Given the description of an element on the screen output the (x, y) to click on. 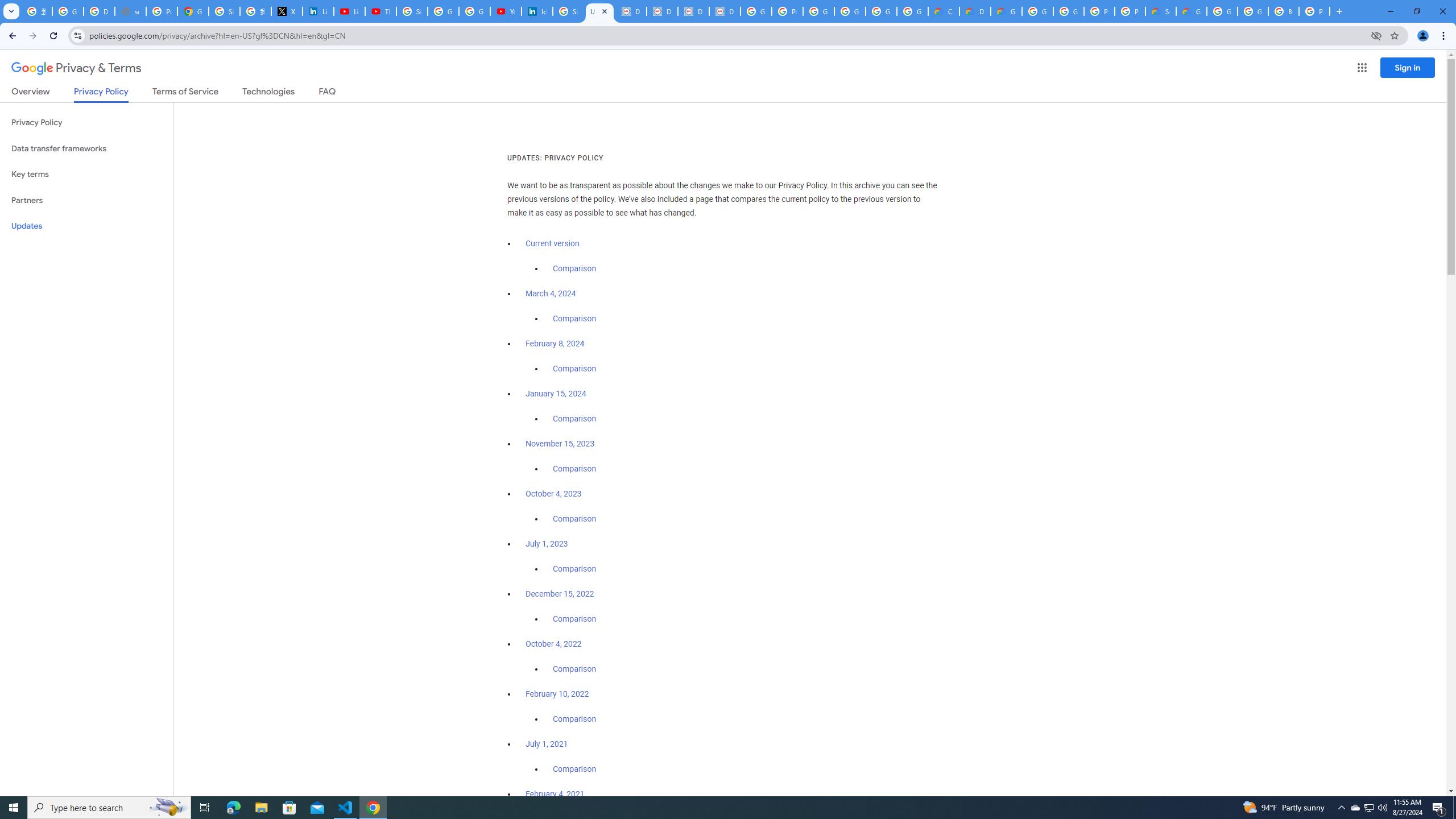
Google Cloud Service Health (1190, 11)
November 15, 2023 (560, 443)
January 15, 2024 (555, 394)
July 1, 2023 (546, 543)
